Given the description of an element on the screen output the (x, y) to click on. 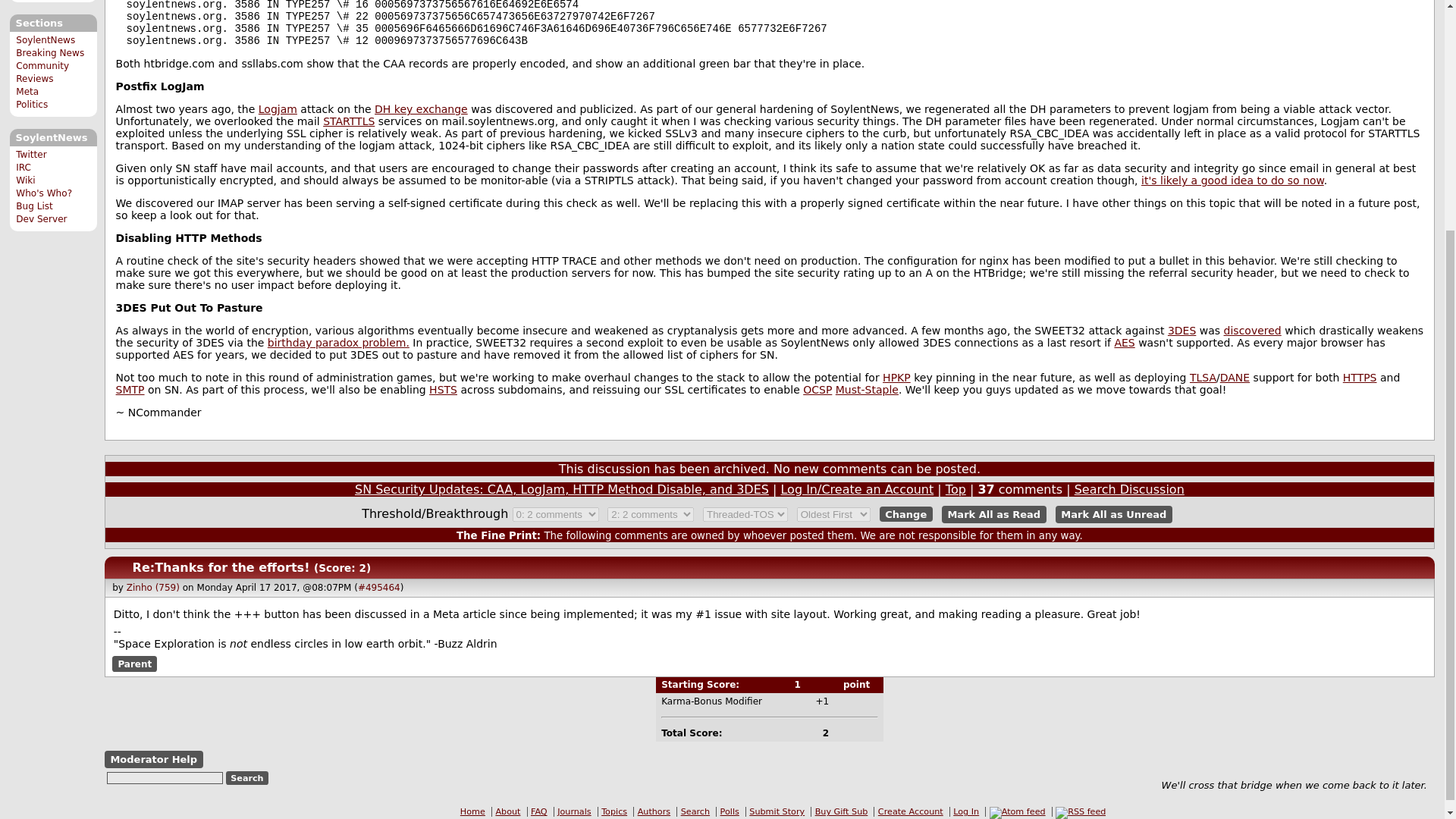
Breaking News (50, 52)
Dev Server (41, 218)
Politics (32, 104)
Search (247, 777)
IRC (23, 167)
Change (906, 513)
Twitter (31, 154)
Community Reviews (42, 72)
Meta (27, 91)
Who's Who? (43, 193)
